Given the description of an element on the screen output the (x, y) to click on. 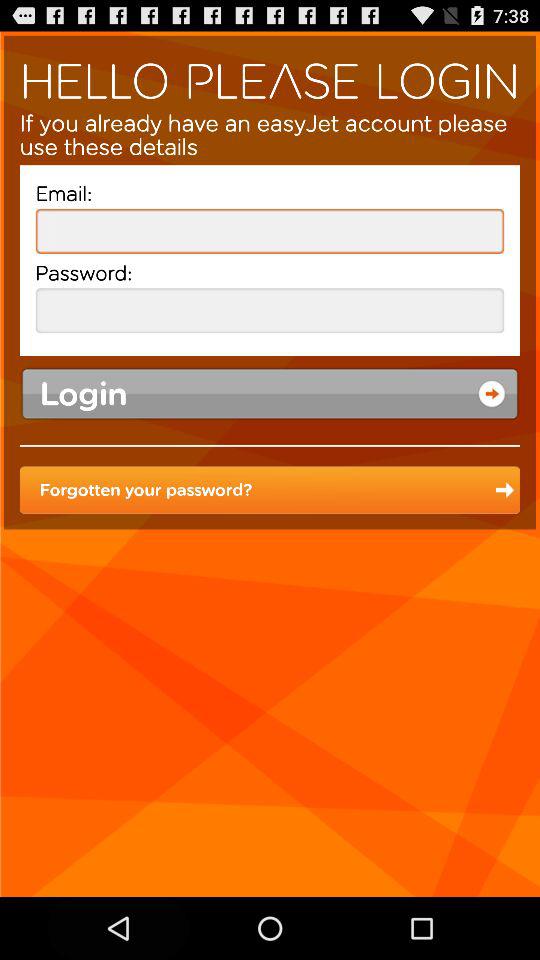
insert email (269, 230)
